Given the description of an element on the screen output the (x, y) to click on. 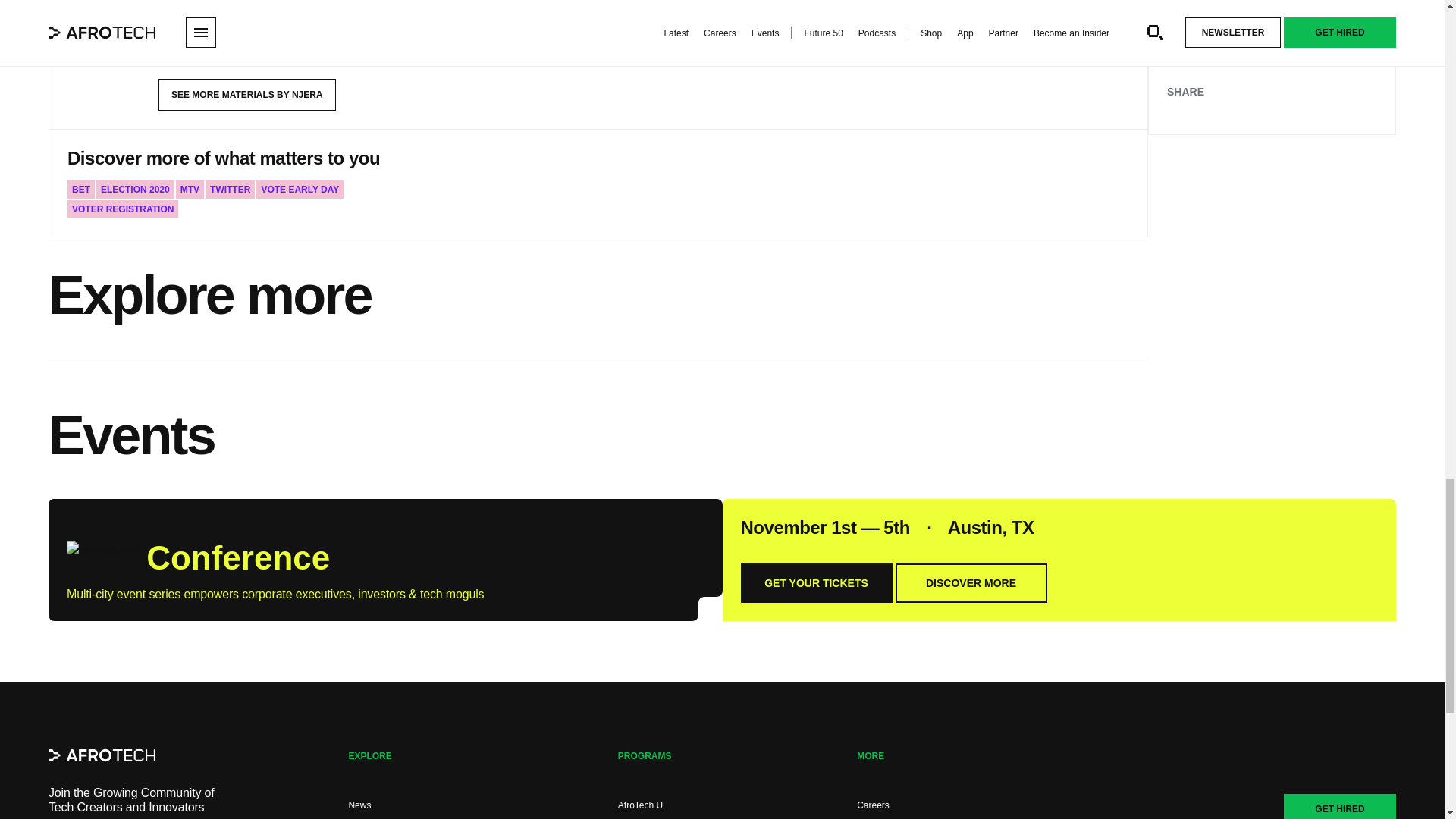
TWITTER (229, 189)
VOTER REGISTRATION (121, 208)
SEE MORE MATERIALS BY NJERA (247, 94)
Njera Perkins (102, 31)
DISCOVER MORE (970, 582)
News (359, 805)
Njera Perkins (213, 5)
ELECTION 2020 (135, 189)
VOTE EARLY DAY (299, 189)
MTV (189, 189)
